Given the description of an element on the screen output the (x, y) to click on. 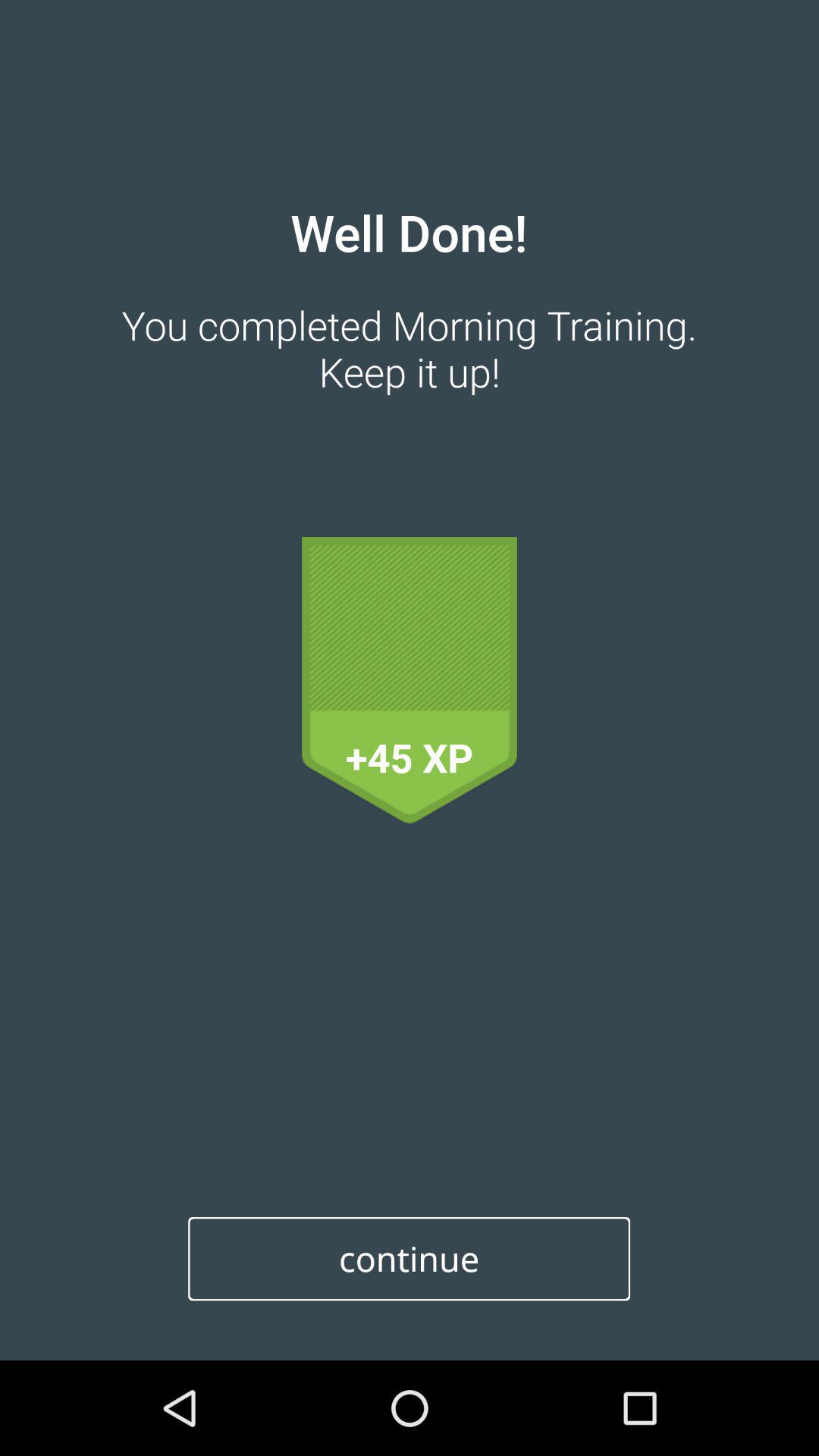
tap continue at the bottom (409, 1258)
